Given the description of an element on the screen output the (x, y) to click on. 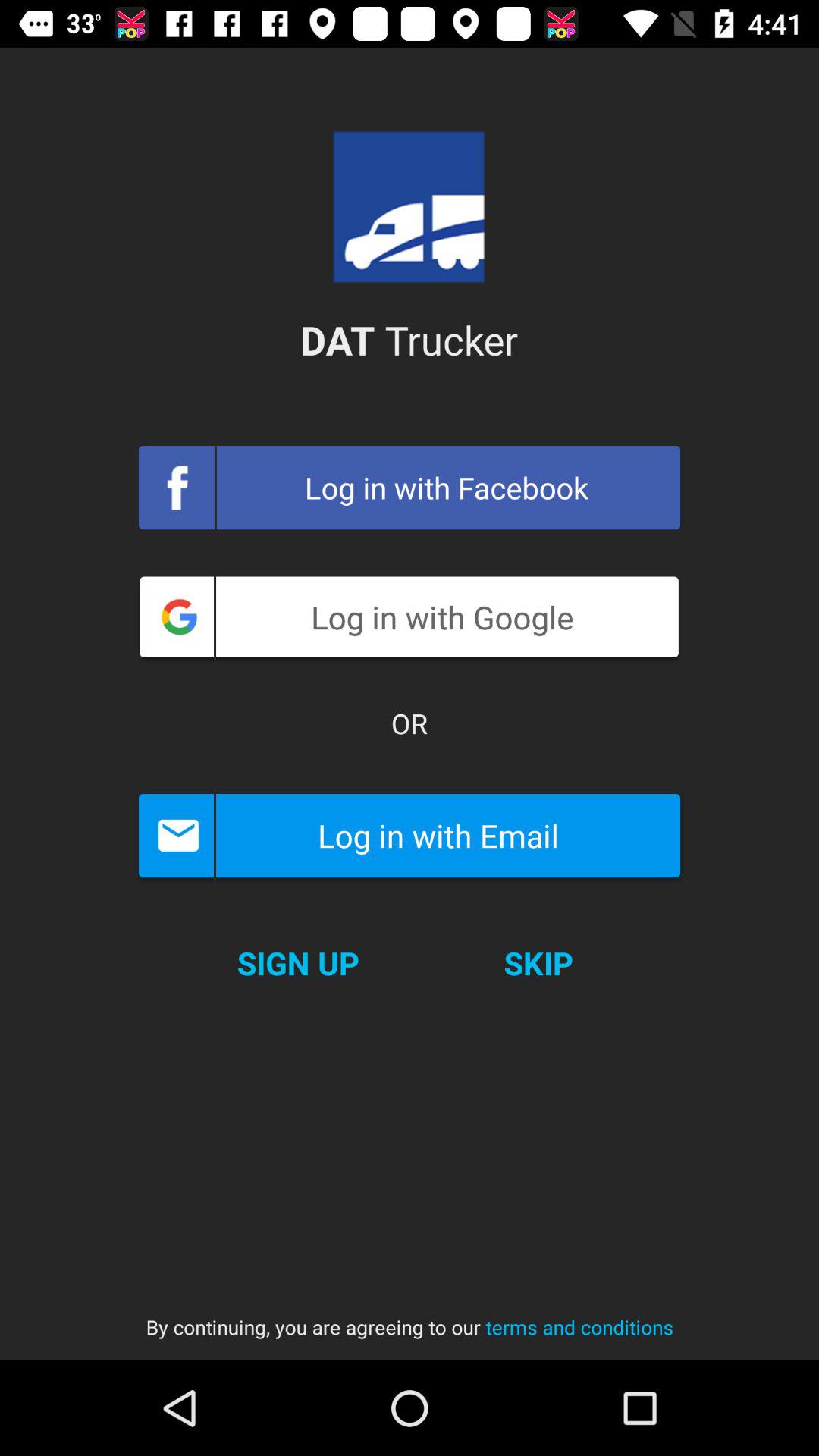
turn on the icon above by continuing you (538, 962)
